Given the description of an element on the screen output the (x, y) to click on. 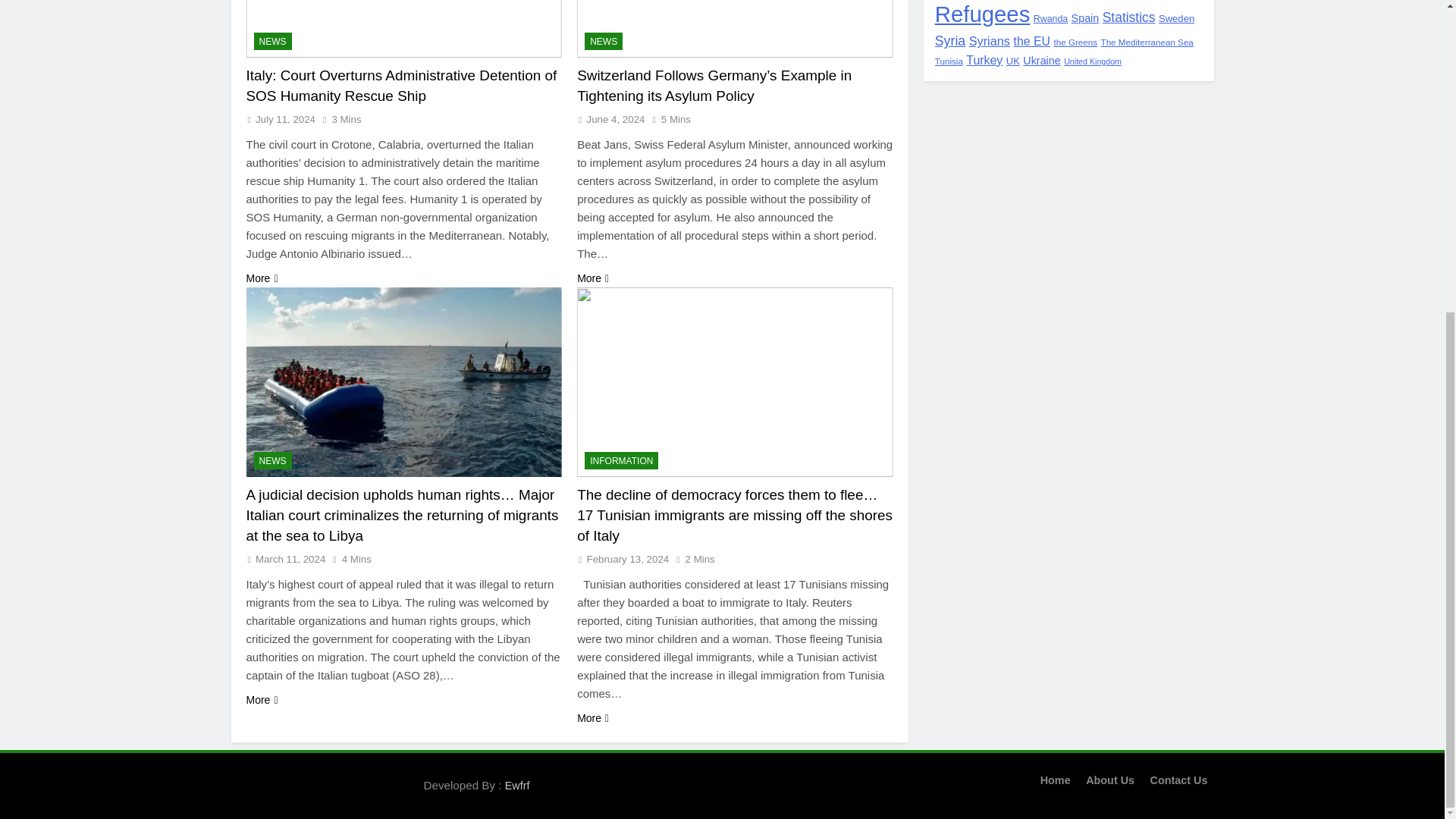
NEWS (272, 40)
More (592, 278)
June 4, 2024 (615, 119)
More (262, 278)
NEWS (272, 460)
More (262, 700)
NEWS (604, 40)
INFORMATION (621, 460)
